Given the description of an element on the screen output the (x, y) to click on. 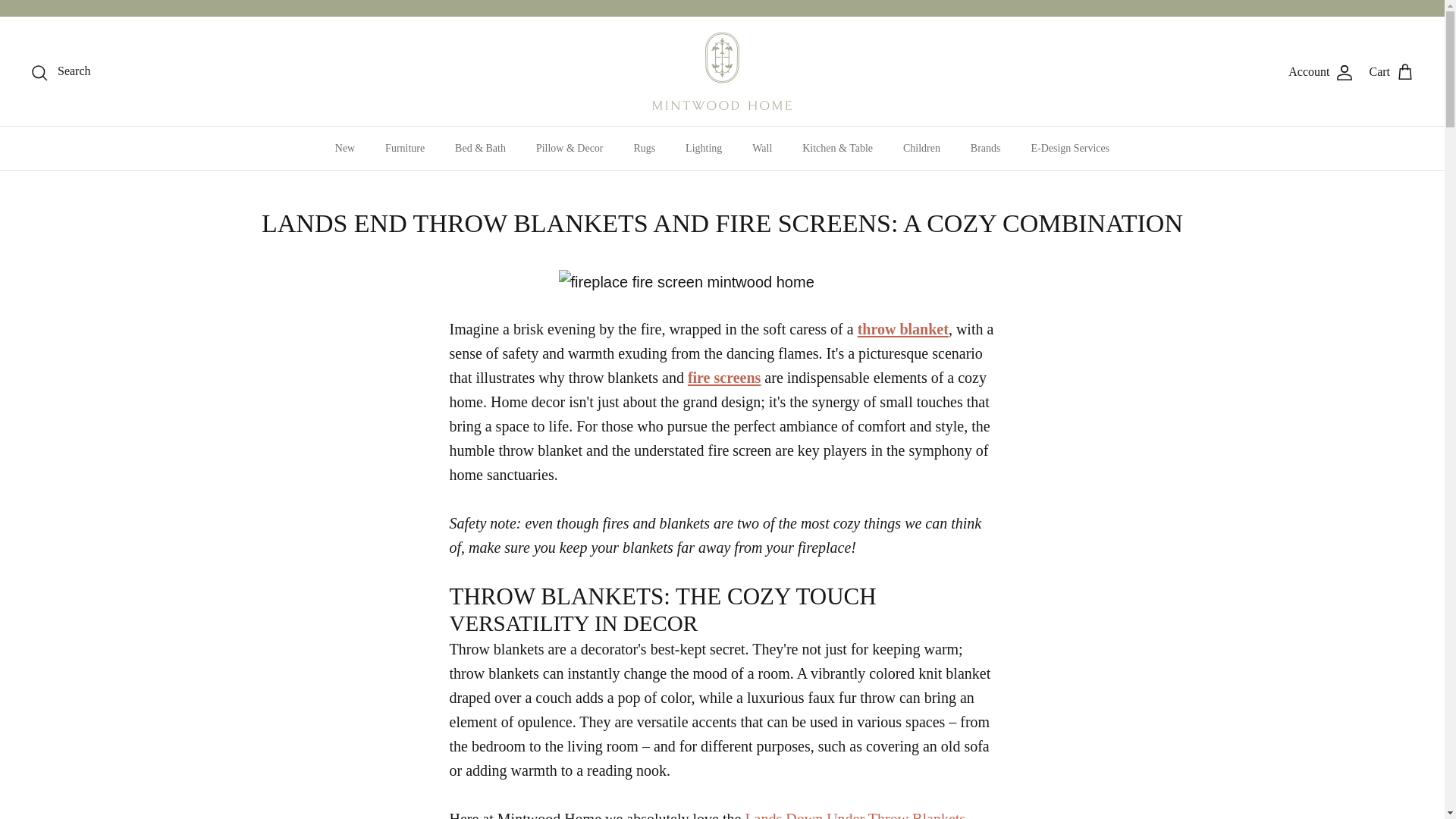
Cart (1390, 70)
Furniture (404, 147)
Mintwood Home (722, 70)
Search (60, 71)
New (344, 147)
Account (1321, 71)
